Given the description of an element on the screen output the (x, y) to click on. 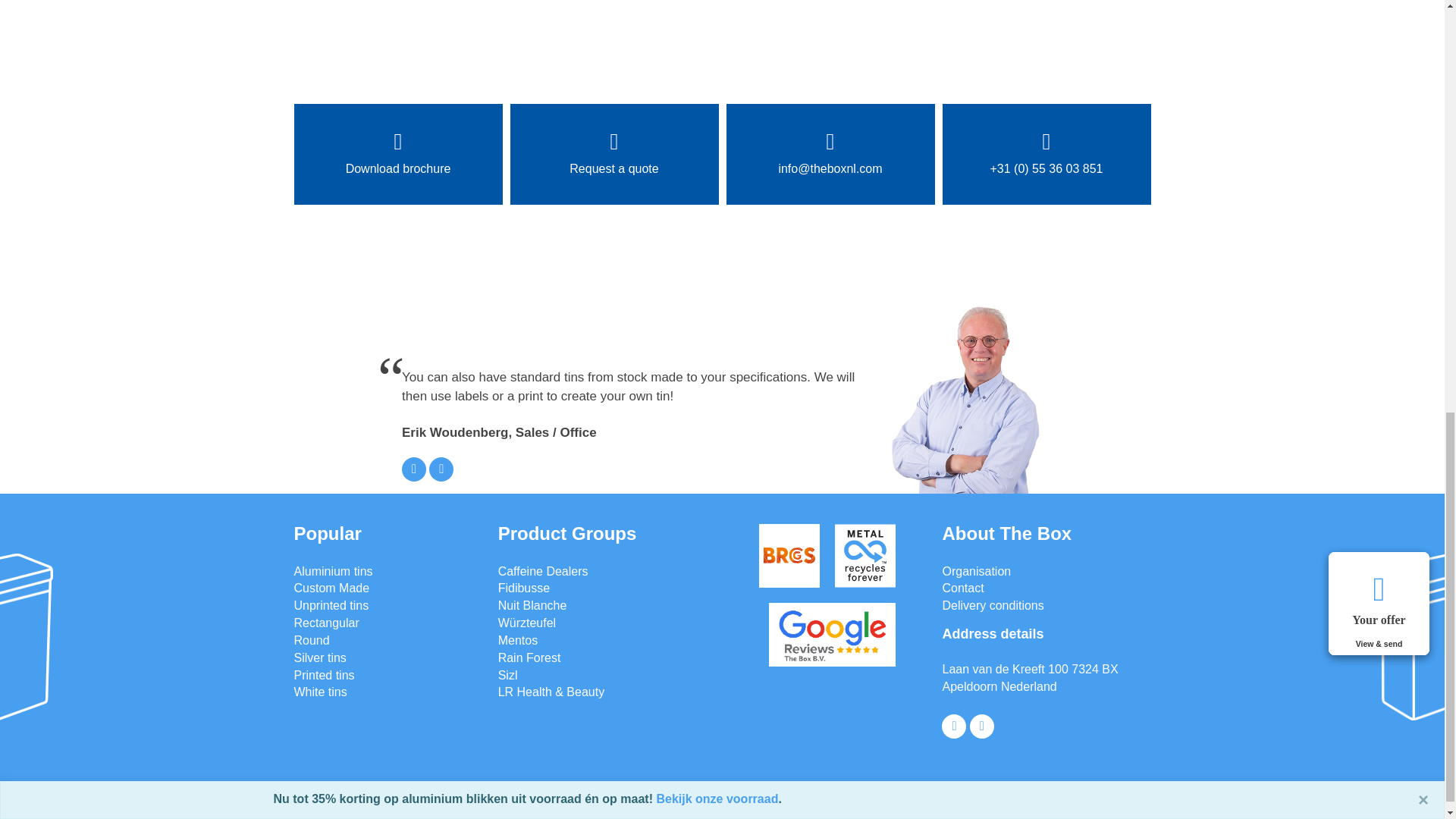
Contact opnemen via de email (413, 469)
Telefonisch contact opnemen (440, 469)
